Given the description of an element on the screen output the (x, y) to click on. 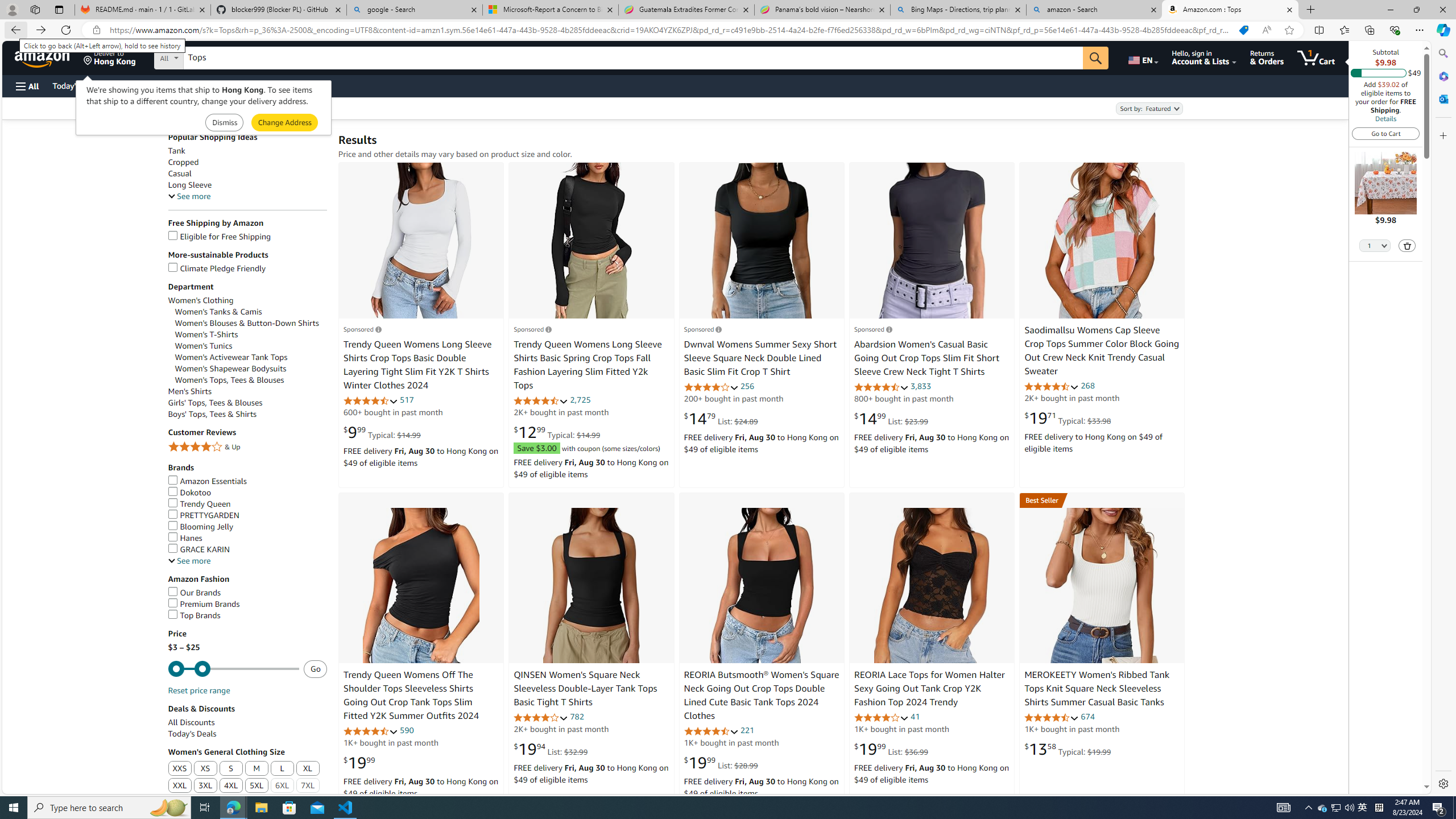
Women's Activewear Tank Tops (231, 357)
4XL (231, 786)
Delete (1407, 245)
Women's Tunics (250, 345)
Blooming Jelly (200, 526)
XXL (179, 786)
$19.99 (359, 762)
Deliver to Hong Kong (109, 57)
$19.94 List: $32.99 (550, 748)
517 (406, 399)
